Given the description of an element on the screen output the (x, y) to click on. 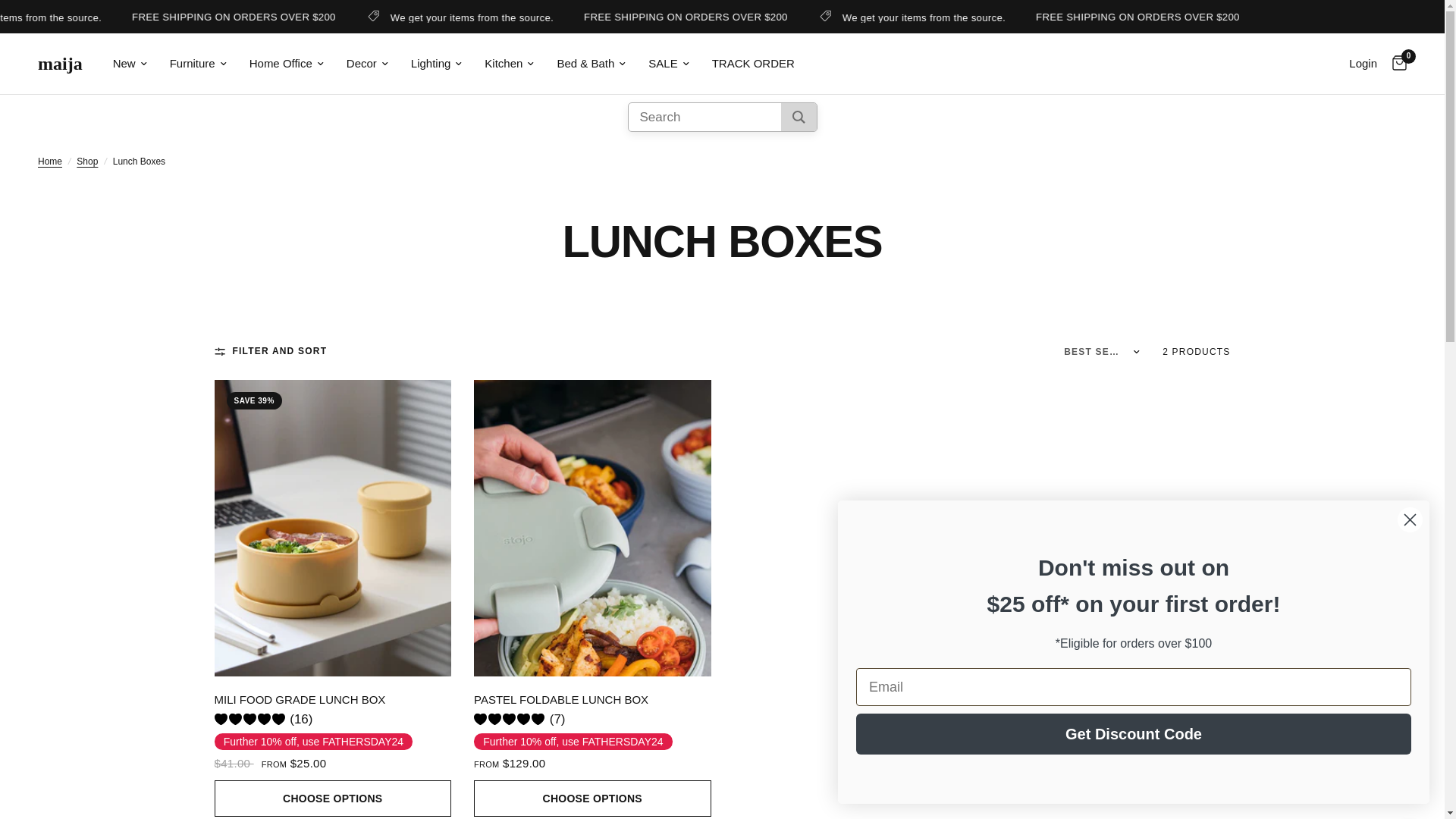
We get your items from the source. (1046, 16)
We get your items from the source. (595, 16)
We get your items from the source. (144, 16)
